Given the description of an element on the screen output the (x, y) to click on. 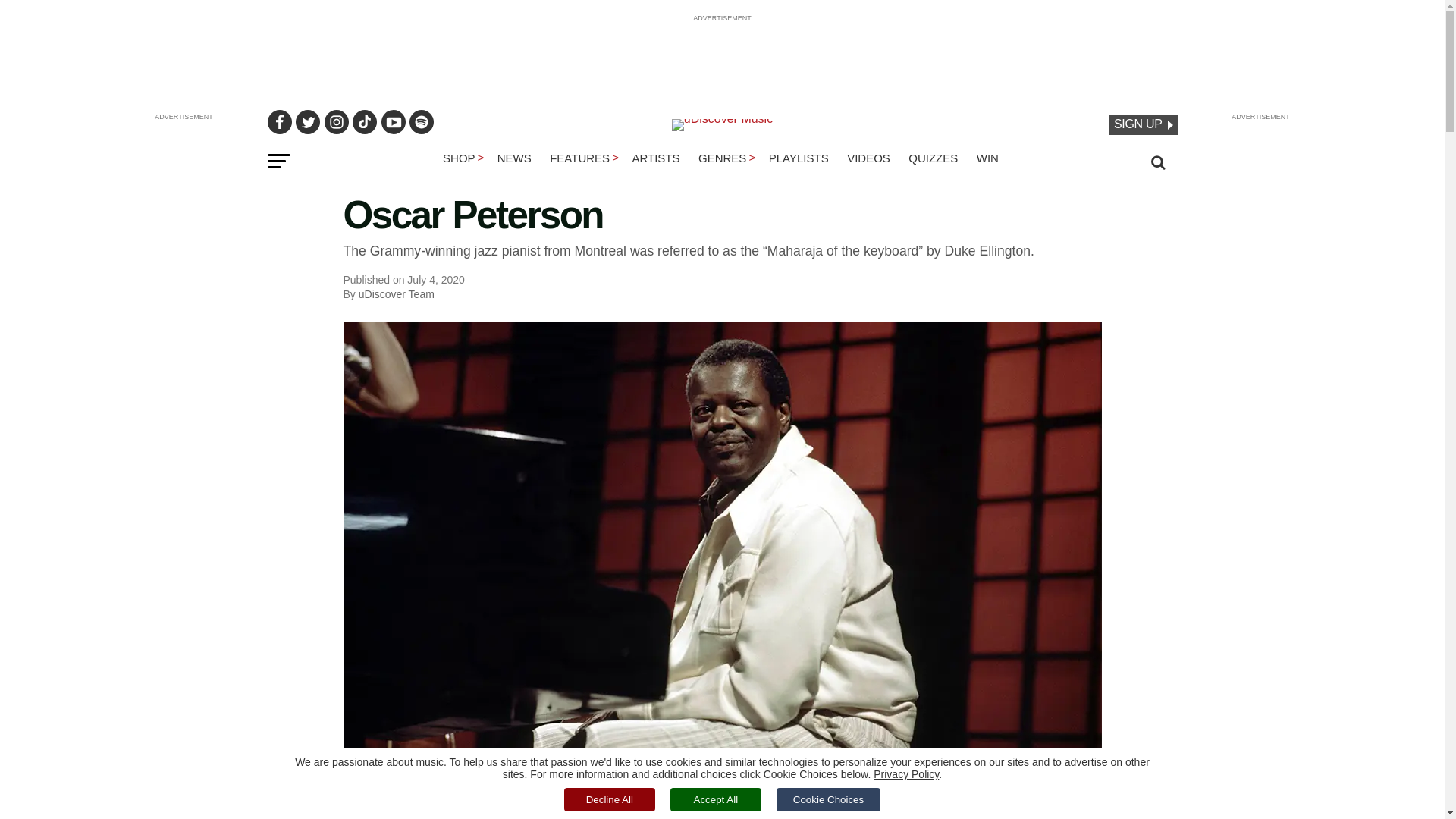
3rd party ad content (721, 56)
Posts by uDiscover Team (395, 294)
